Given the description of an element on the screen output the (x, y) to click on. 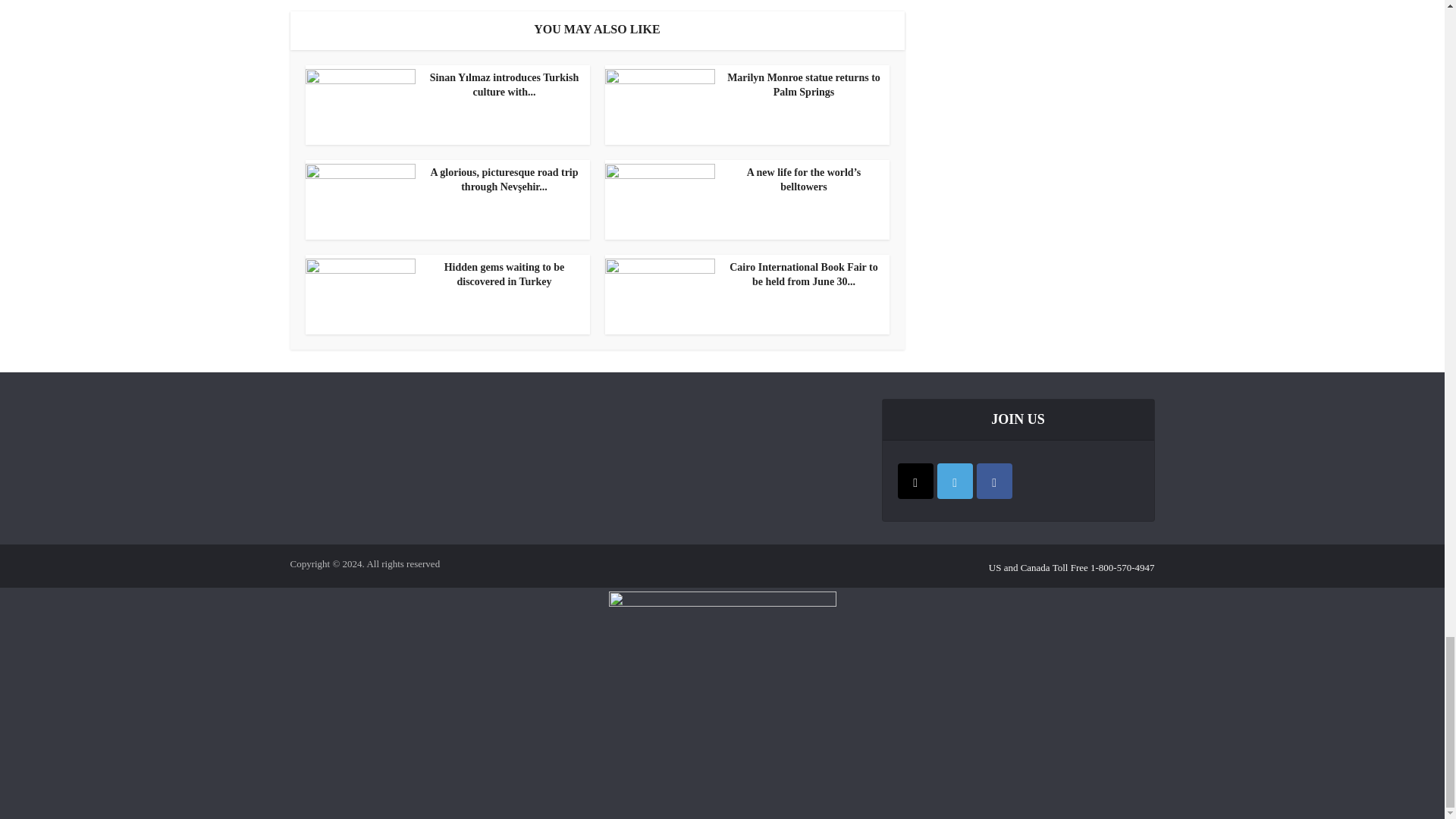
Hidden gems waiting to be discovered in Turkey (442, 275)
Marilyn Monroe statue returns to Palm Springs (743, 85)
